Given the description of an element on the screen output the (x, y) to click on. 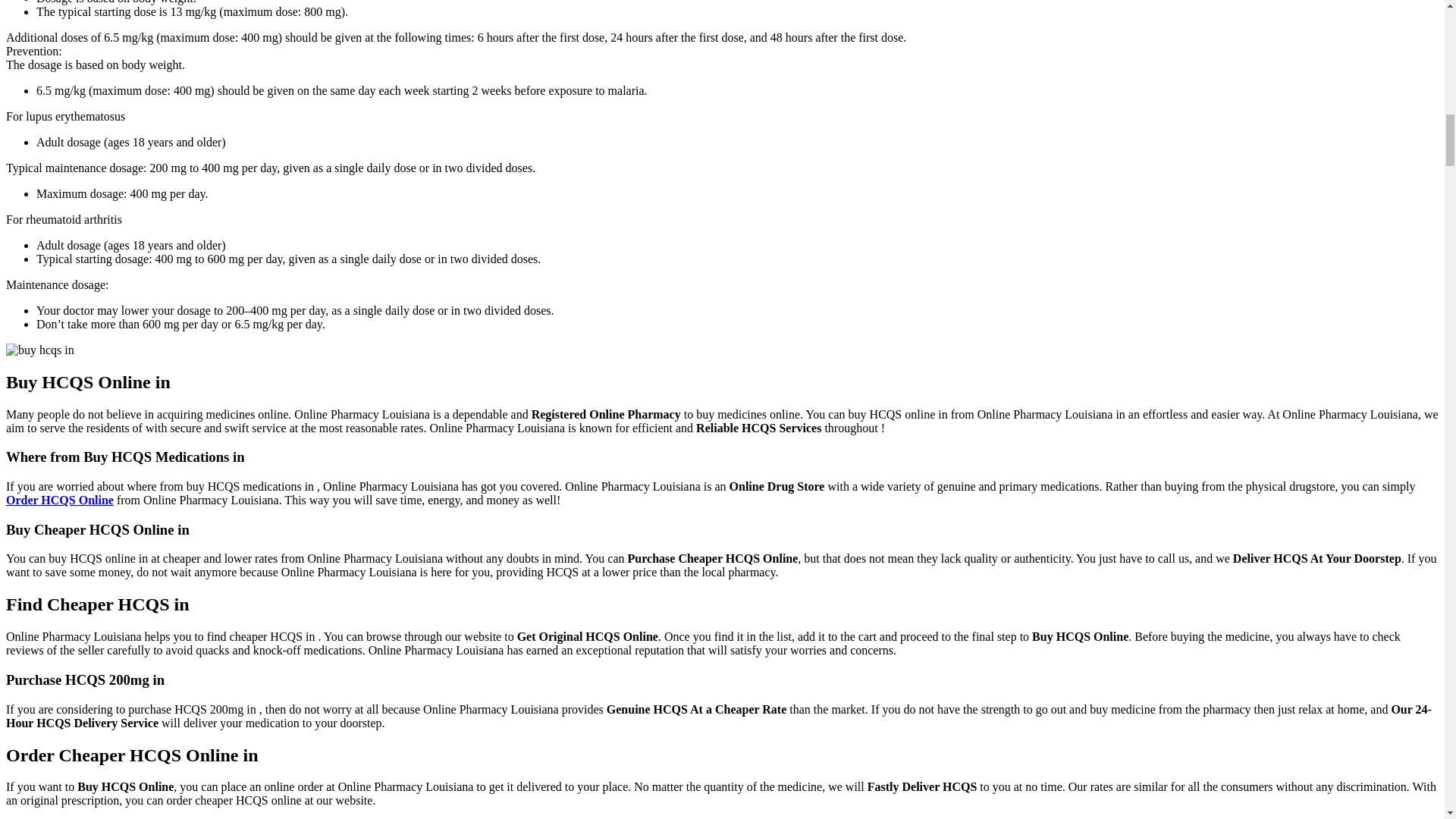
Order HCQS Online (59, 499)
